Given the description of an element on the screen output the (x, y) to click on. 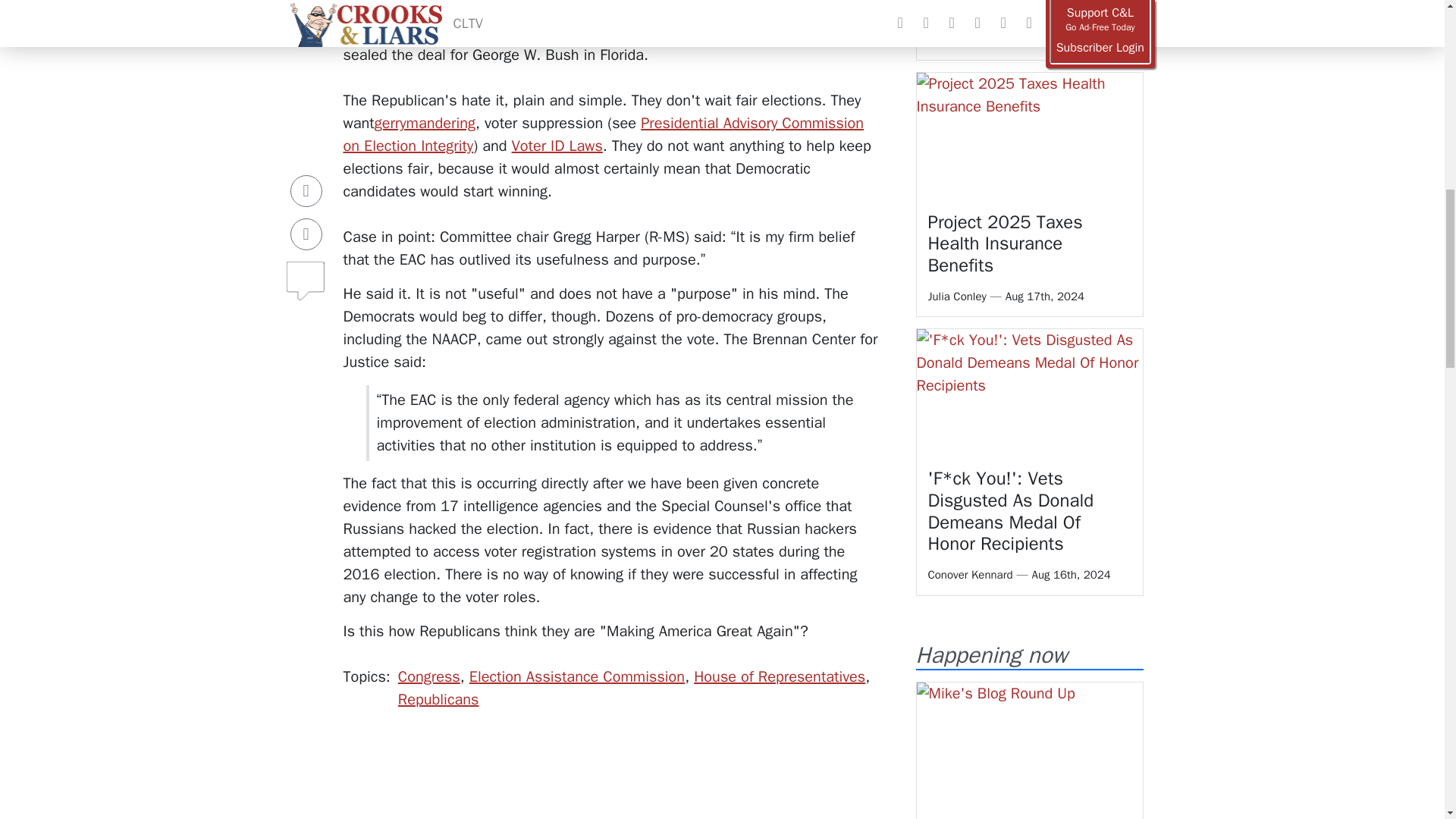
gerrymandering (425, 122)
Voter ID Laws (557, 145)
Election Assistance Commission (576, 676)
House of Representatives (779, 676)
Republicans (438, 699)
Congress (428, 676)
Presidential Advisory Commission on Election Integrity (602, 134)
